Given the description of an element on the screen output the (x, y) to click on. 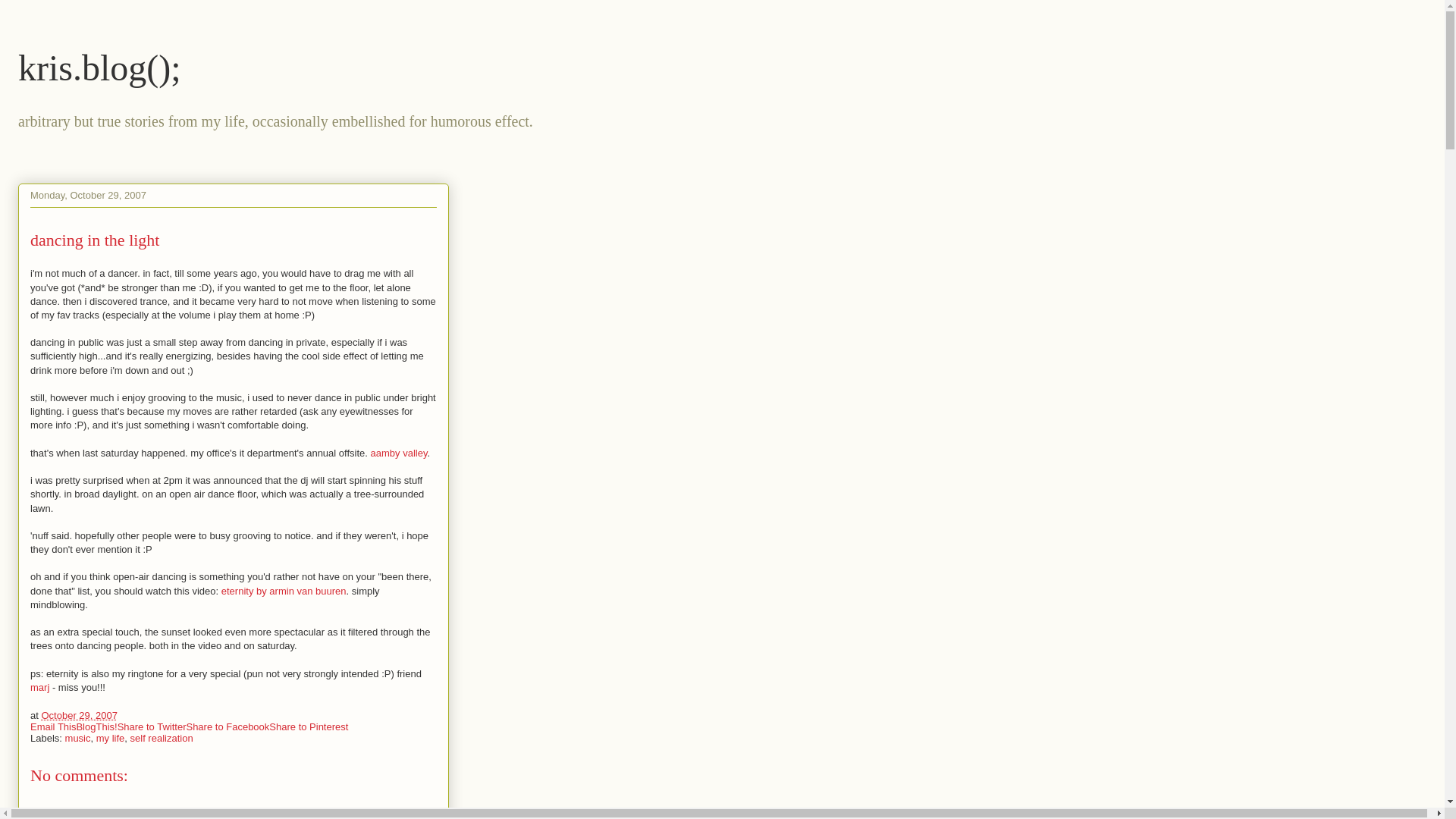
Share to Pinterest (308, 726)
Share to Facebook (227, 726)
my life (110, 737)
aamby valley (399, 452)
marj (39, 686)
Share to Pinterest (308, 726)
Share to Facebook (227, 726)
Share to Twitter (151, 726)
BlogThis! (95, 726)
music (77, 737)
October 29, 2007 (78, 715)
Email This (52, 726)
eternity by armin van buuren (283, 591)
Email This (52, 726)
permanent link (78, 715)
